Given the description of an element on the screen output the (x, y) to click on. 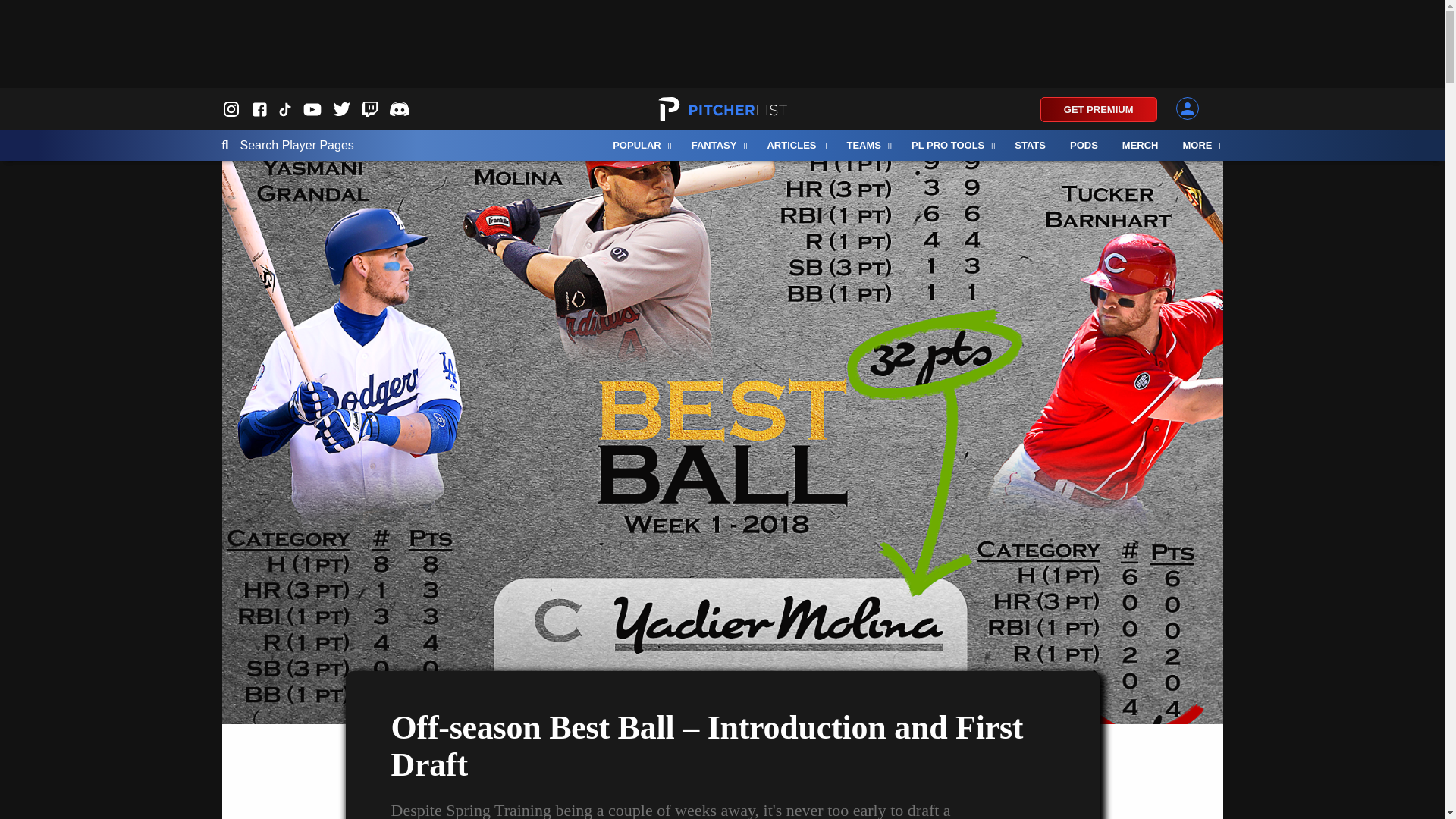
FANTASY (717, 145)
GET PREMIUM (1099, 109)
